Given the description of an element on the screen output the (x, y) to click on. 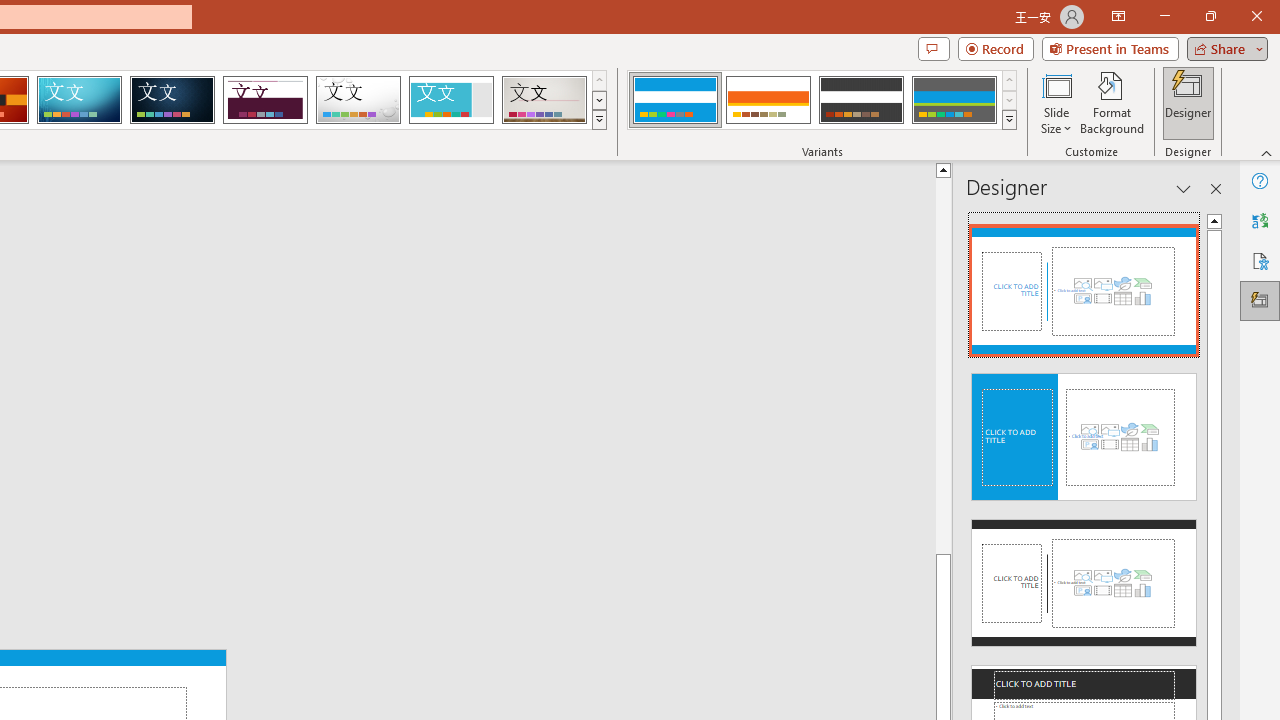
Frame (450, 100)
Dividend (265, 100)
Droplet (358, 100)
AutomationID: ThemeVariantsGallery (822, 99)
